Given the description of an element on the screen output the (x, y) to click on. 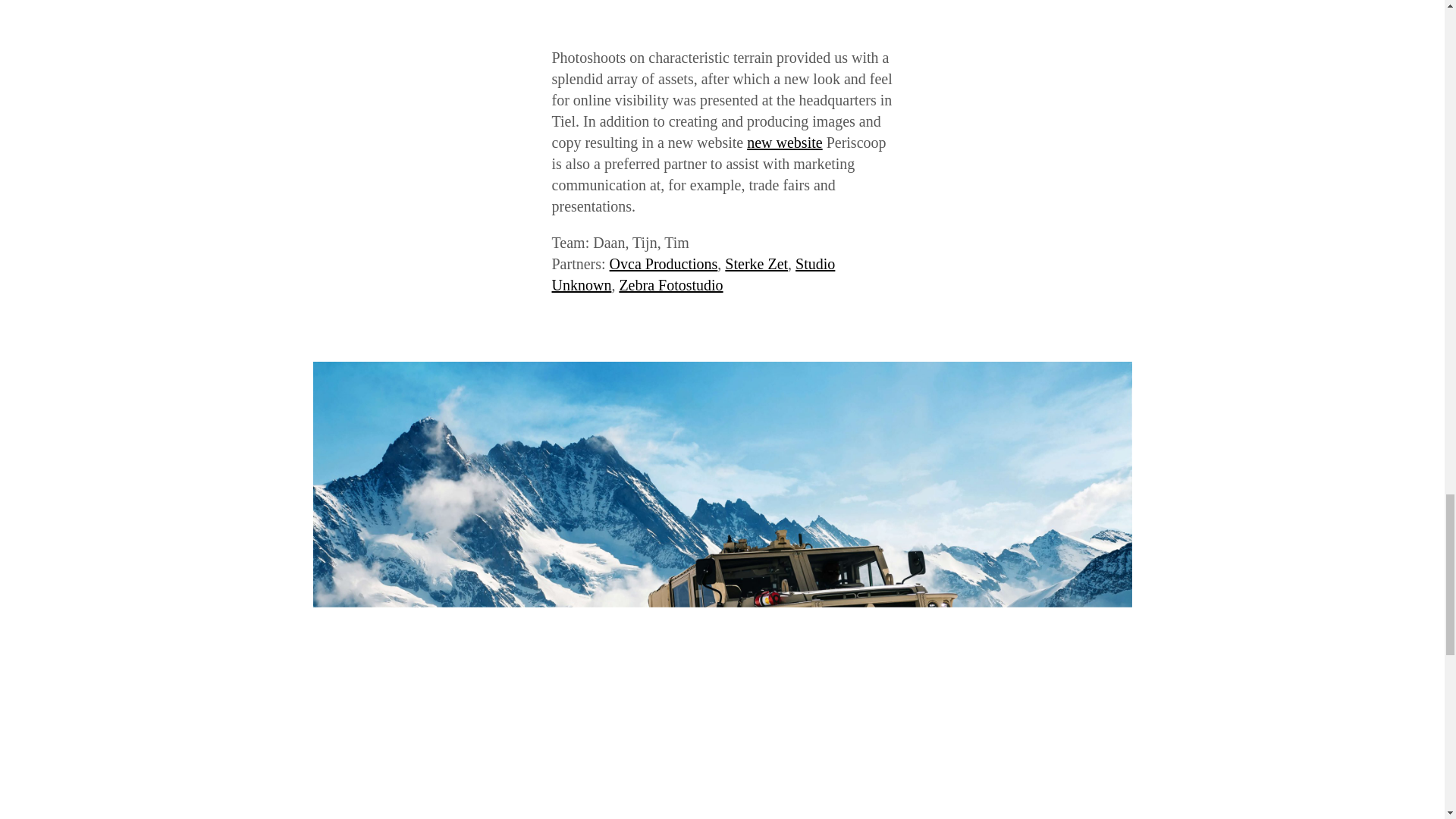
Sterke Zet (756, 263)
new website (784, 142)
Zebra Fotostudio (670, 284)
Ovca Productions (663, 263)
Studio Unknown (693, 274)
